Given the description of an element on the screen output the (x, y) to click on. 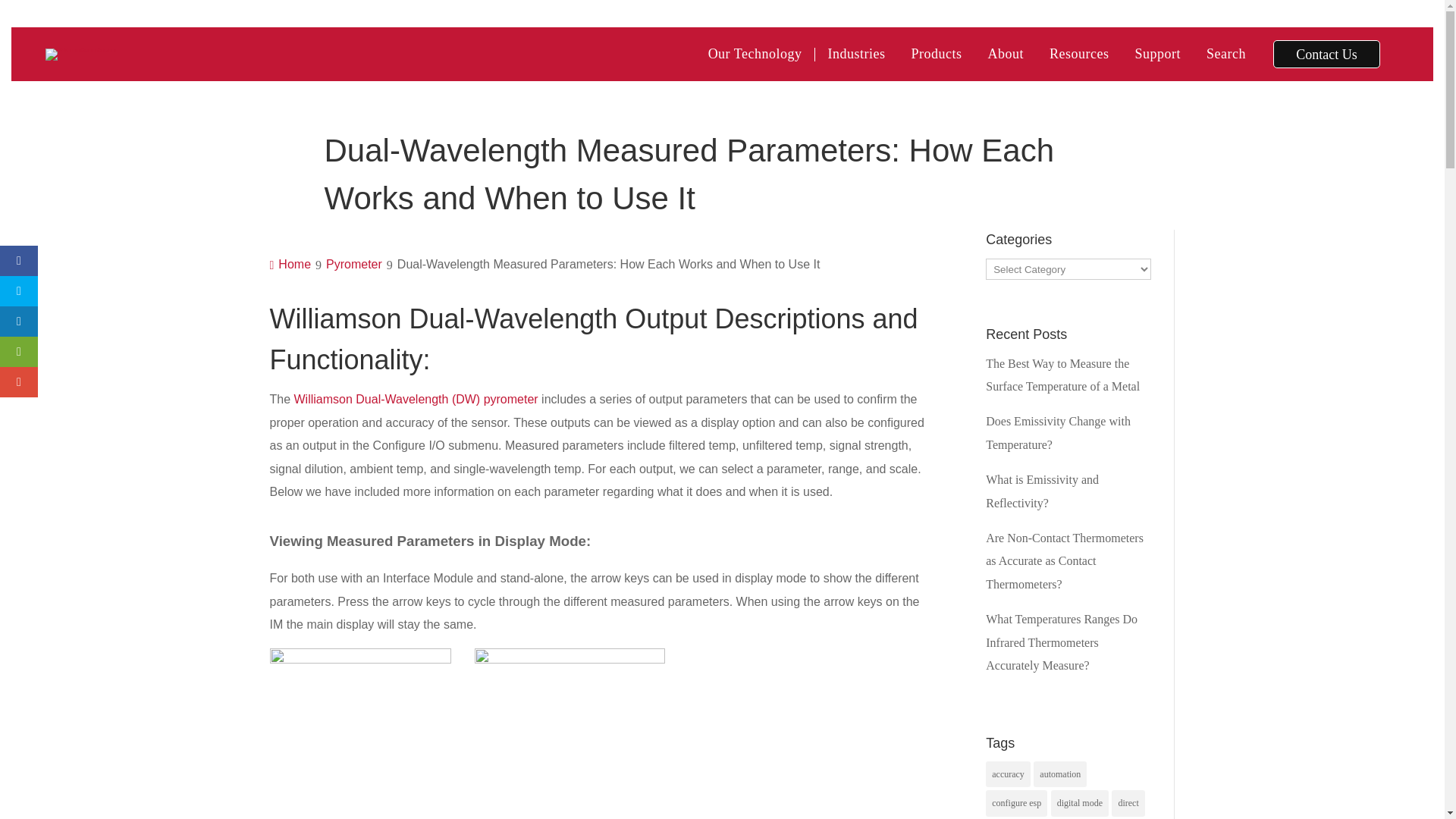
Our Technology (754, 54)
Resources (1079, 54)
Products (936, 54)
logo-white (80, 54)
Industries (856, 54)
